Given the description of an element on the screen output the (x, y) to click on. 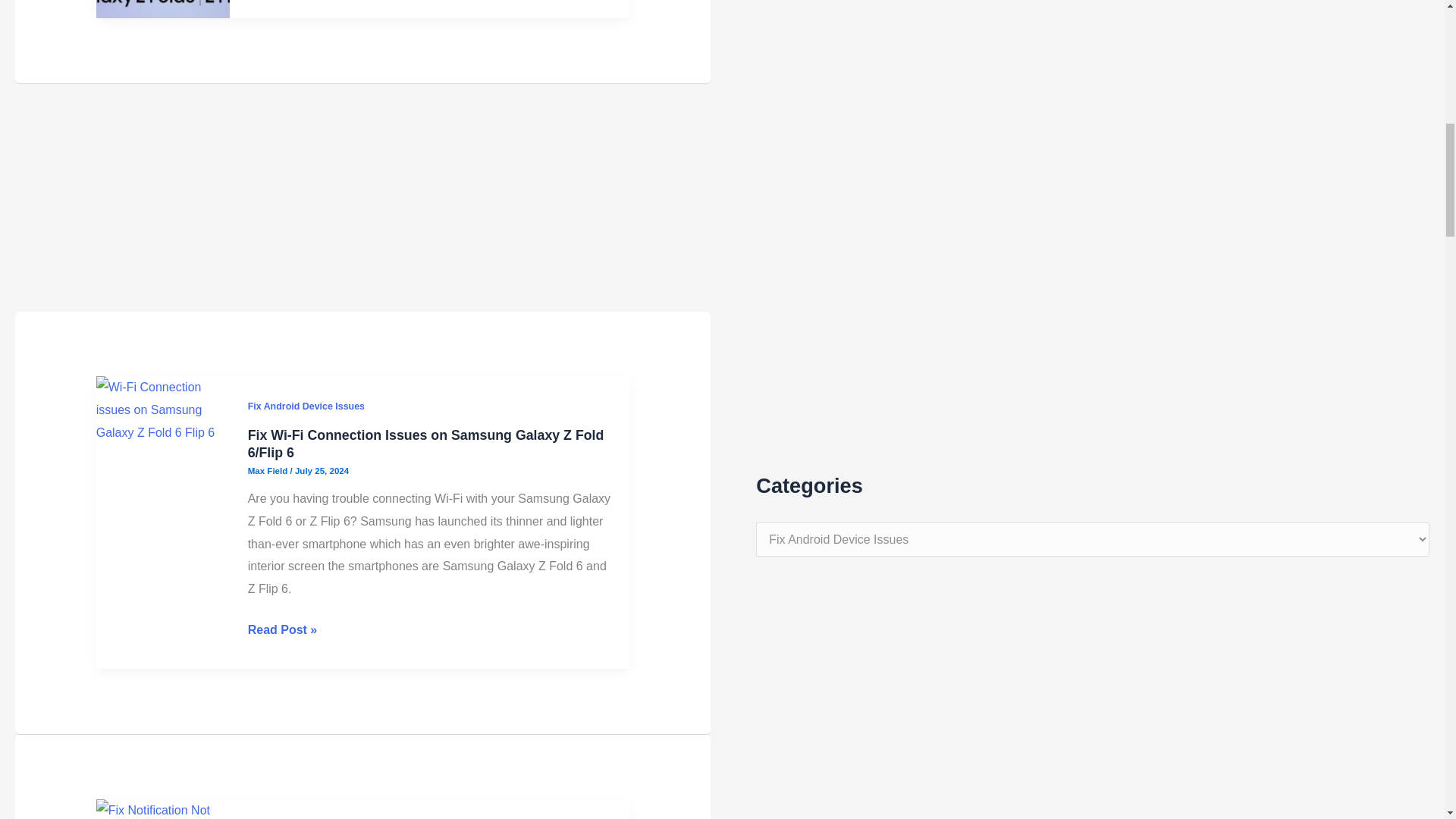
View all posts by Max Field (268, 788)
View all posts by Max Field (268, 4)
View all posts by Max Field (268, 410)
